Given the description of an element on the screen output the (x, y) to click on. 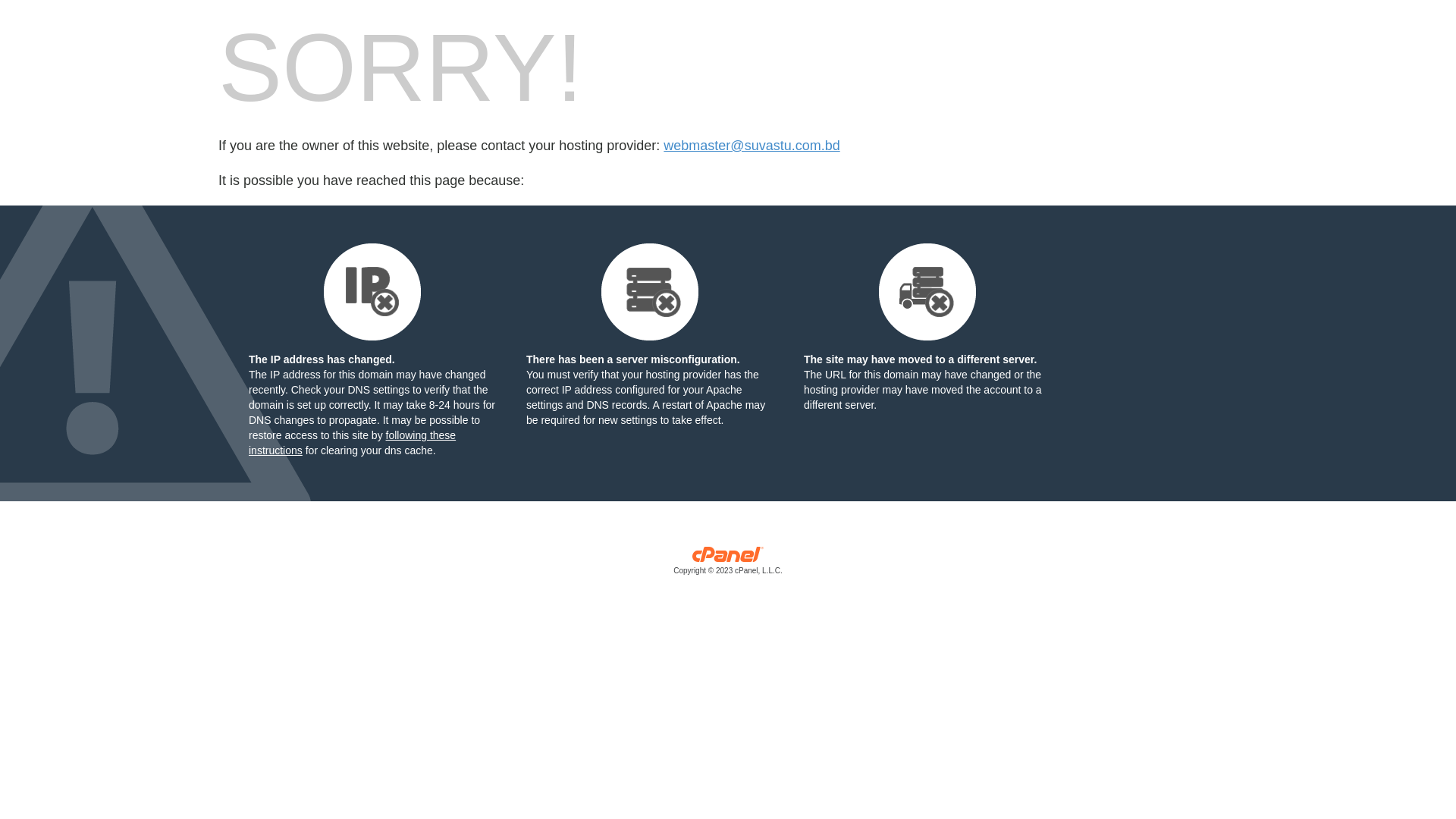
following these instructions Element type: text (351, 442)
webmaster@suvastu.com.bd Element type: text (751, 145)
